Given the description of an element on the screen output the (x, y) to click on. 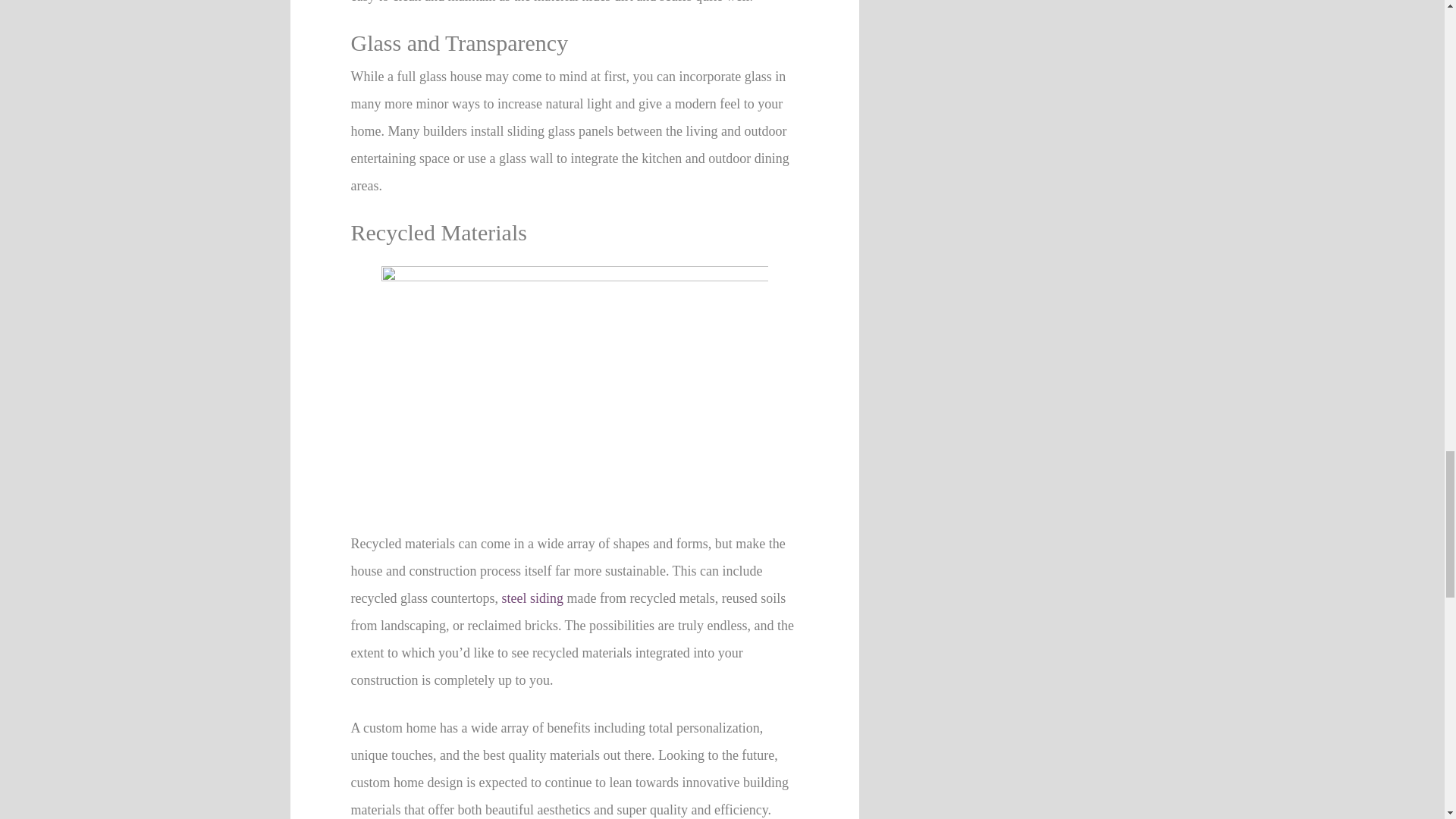
steel siding (531, 598)
